Given the description of an element on the screen output the (x, y) to click on. 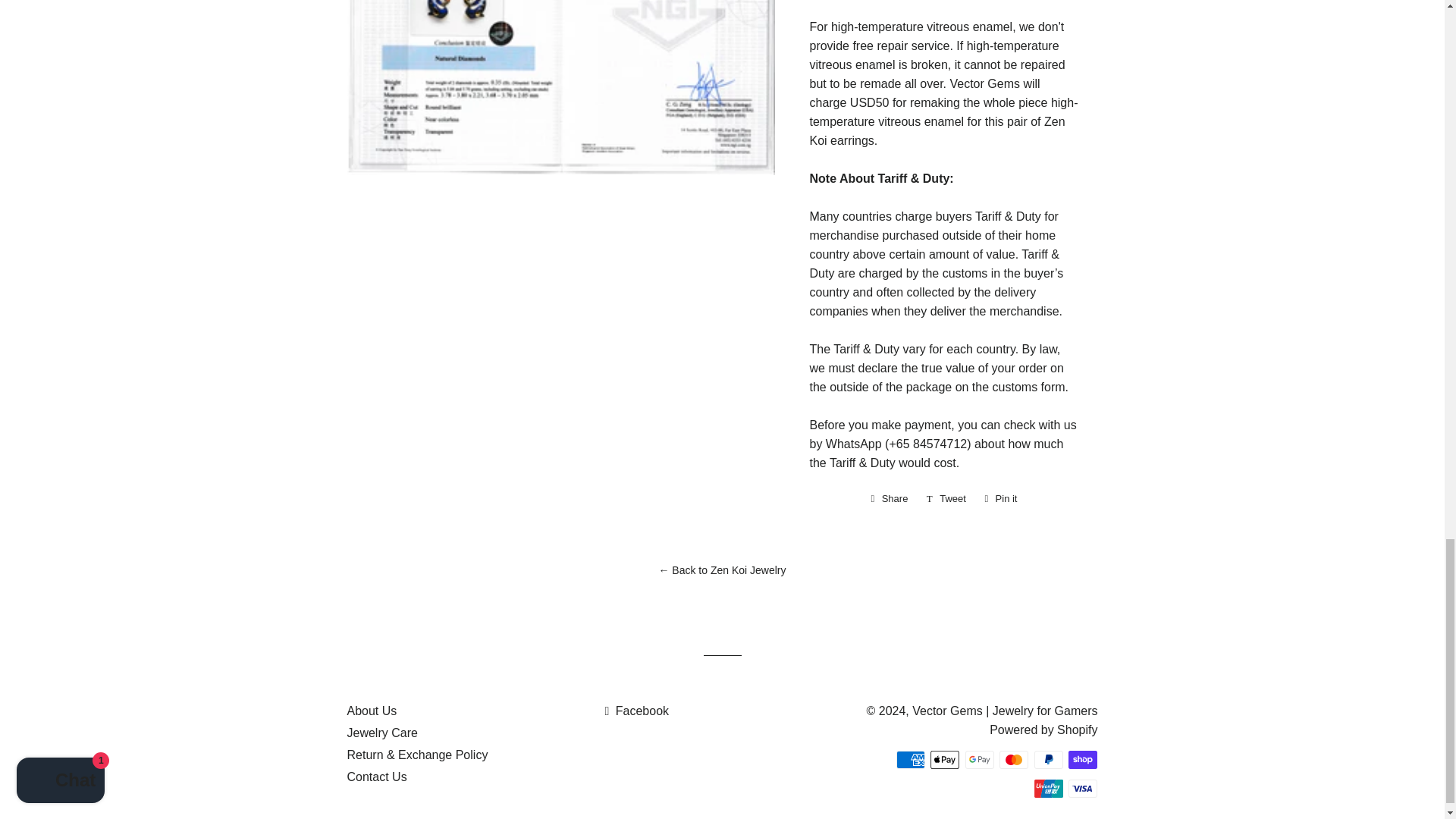
Mastercard (1012, 760)
Apple Pay (889, 498)
Shop Pay (944, 760)
Union Pay (1082, 760)
Visa (1047, 788)
Tweet on Twitter (946, 498)
Pin on Pinterest (1082, 788)
PayPal (946, 498)
American Express (1000, 498)
Google Pay (1047, 760)
Share on Facebook (910, 760)
